Given the description of an element on the screen output the (x, y) to click on. 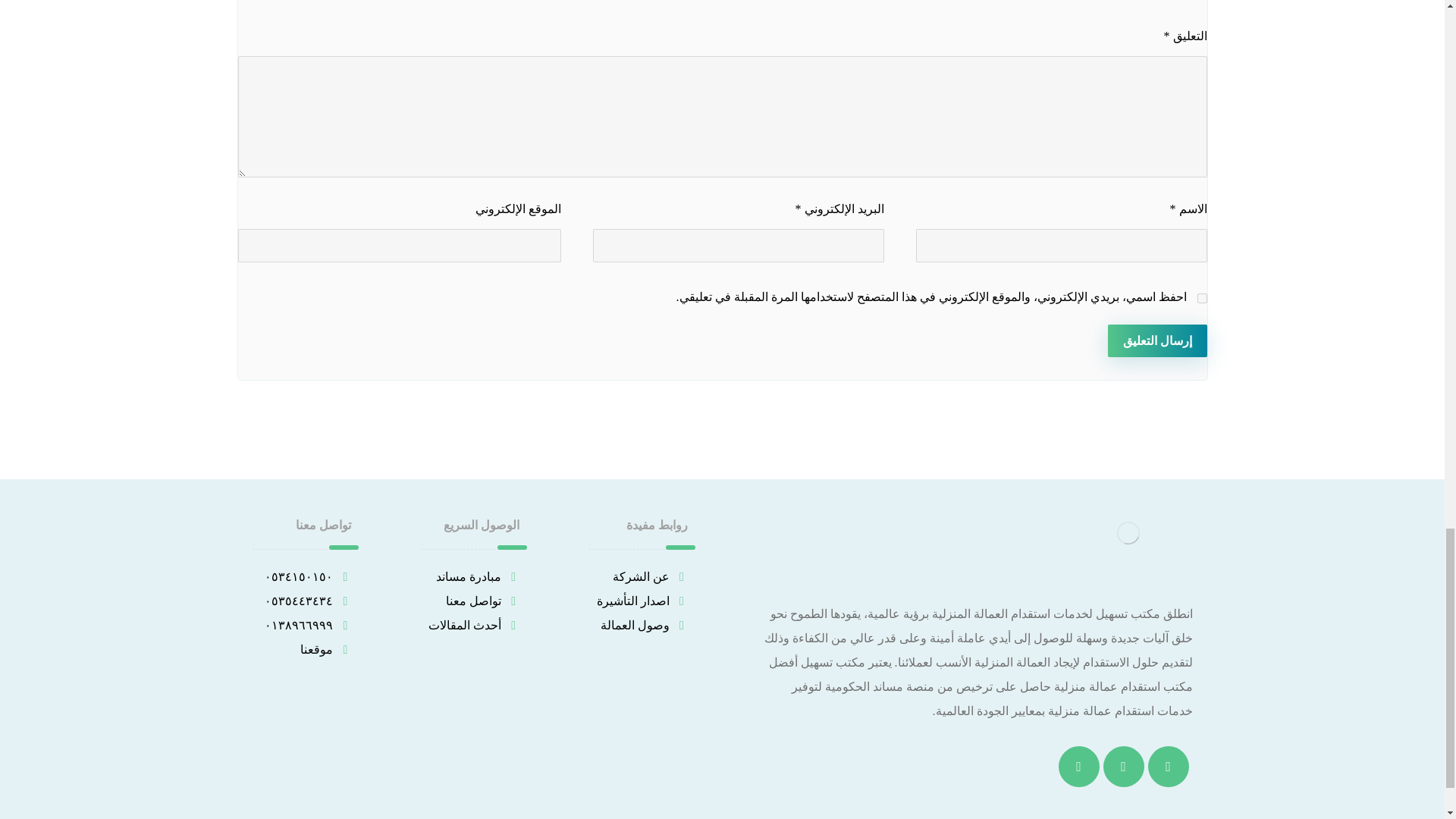
yes (1201, 298)
